Given the description of an element on the screen output the (x, y) to click on. 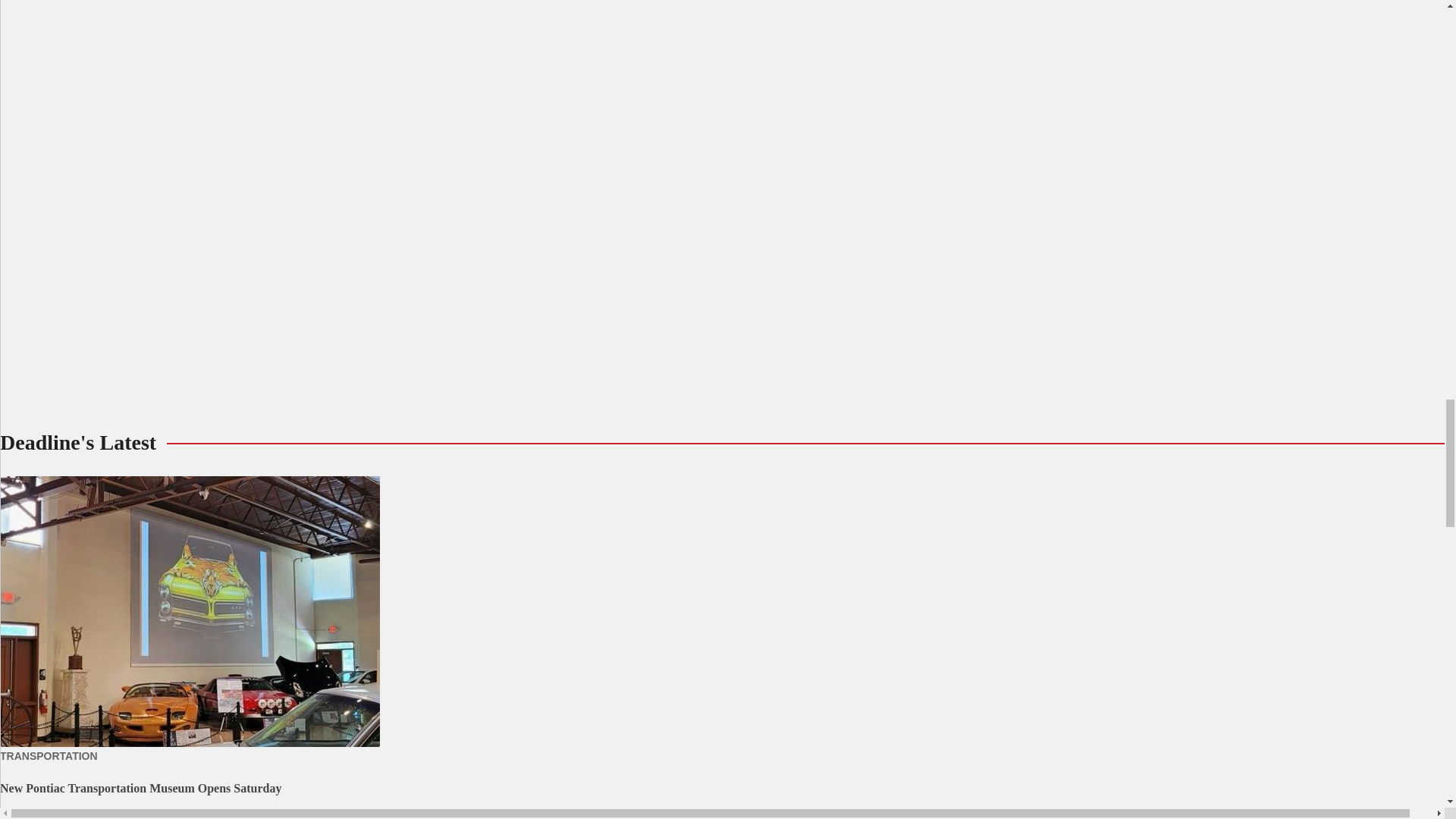
TRANSPORTATION (48, 756)
New Pontiac Transportation Museum Opens Saturday (140, 788)
Deadline Detroit (155, 817)
